Given the description of an element on the screen output the (x, y) to click on. 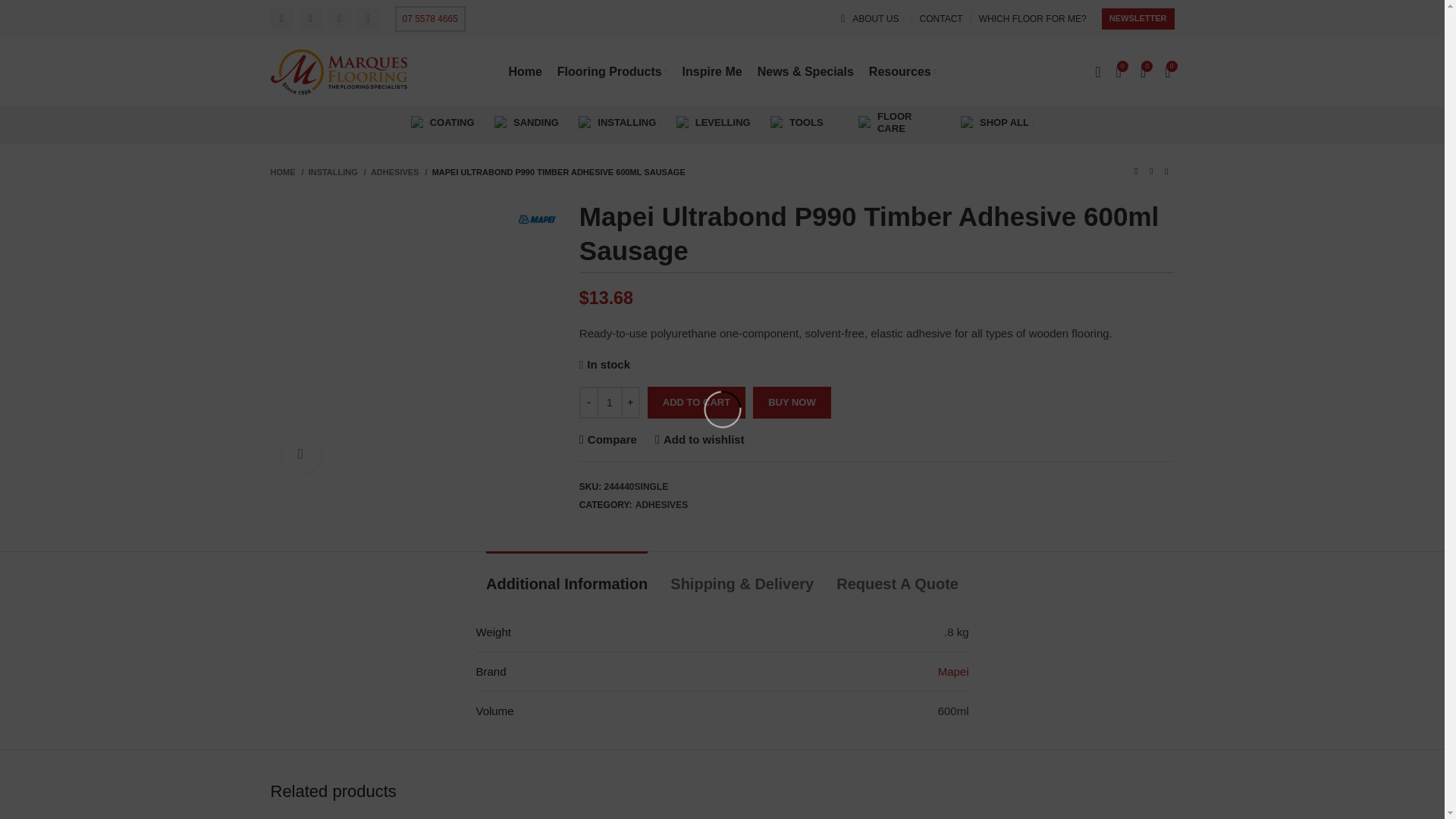
maintenance (865, 122)
coating (417, 122)
levelling (683, 122)
sanding (501, 122)
ABOUT US (876, 19)
mapei (537, 219)
WHICH FLOOR FOR ME? (1032, 19)
Flooring Products (611, 71)
store (967, 122)
CONTACT (941, 19)
NEWSLETTER (1138, 18)
Home (524, 71)
installing (585, 122)
Resources (902, 71)
07 5578 4665 (429, 18)
